Given the description of an element on the screen output the (x, y) to click on. 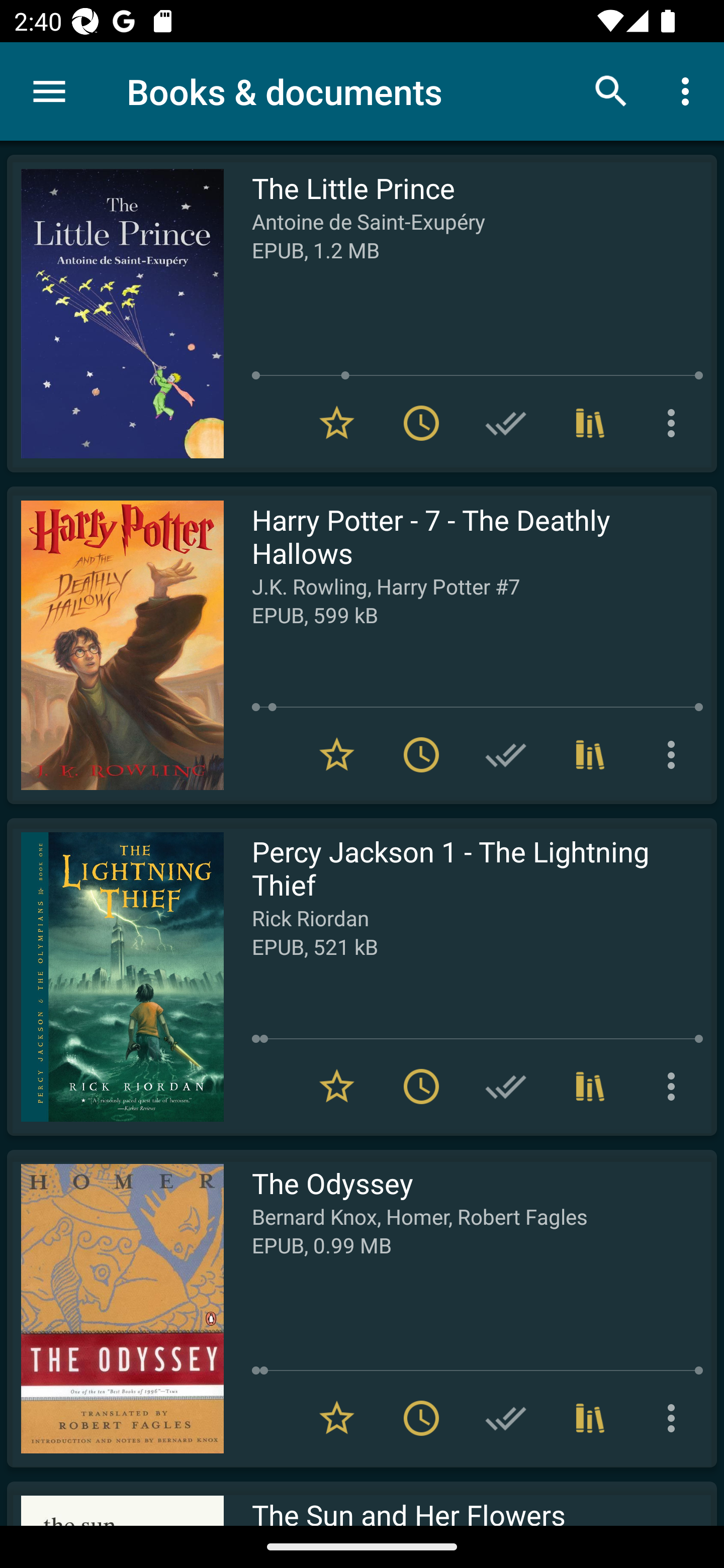
Menu (49, 91)
Search books & documents (611, 90)
More options (688, 90)
Read The Little Prince (115, 313)
Remove from Favorites (336, 423)
Remove from To read (421, 423)
Add to Have read (505, 423)
Collections (1) (590, 423)
More options (674, 423)
Read Harry Potter - 7 - The Deathly Hallows (115, 645)
Remove from Favorites (336, 753)
Remove from To read (421, 753)
Add to Have read (505, 753)
Collections (3) (590, 753)
More options (674, 753)
Read Percy Jackson 1 - The Lightning Thief (115, 976)
Remove from Favorites (336, 1086)
Remove from To read (421, 1086)
Add to Have read (505, 1086)
Collections (1) (590, 1086)
More options (674, 1086)
Read The Odyssey (115, 1308)
Remove from Favorites (336, 1417)
Remove from To read (421, 1417)
Add to Have read (505, 1417)
Collections (3) (590, 1417)
More options (674, 1417)
